Given the description of an element on the screen output the (x, y) to click on. 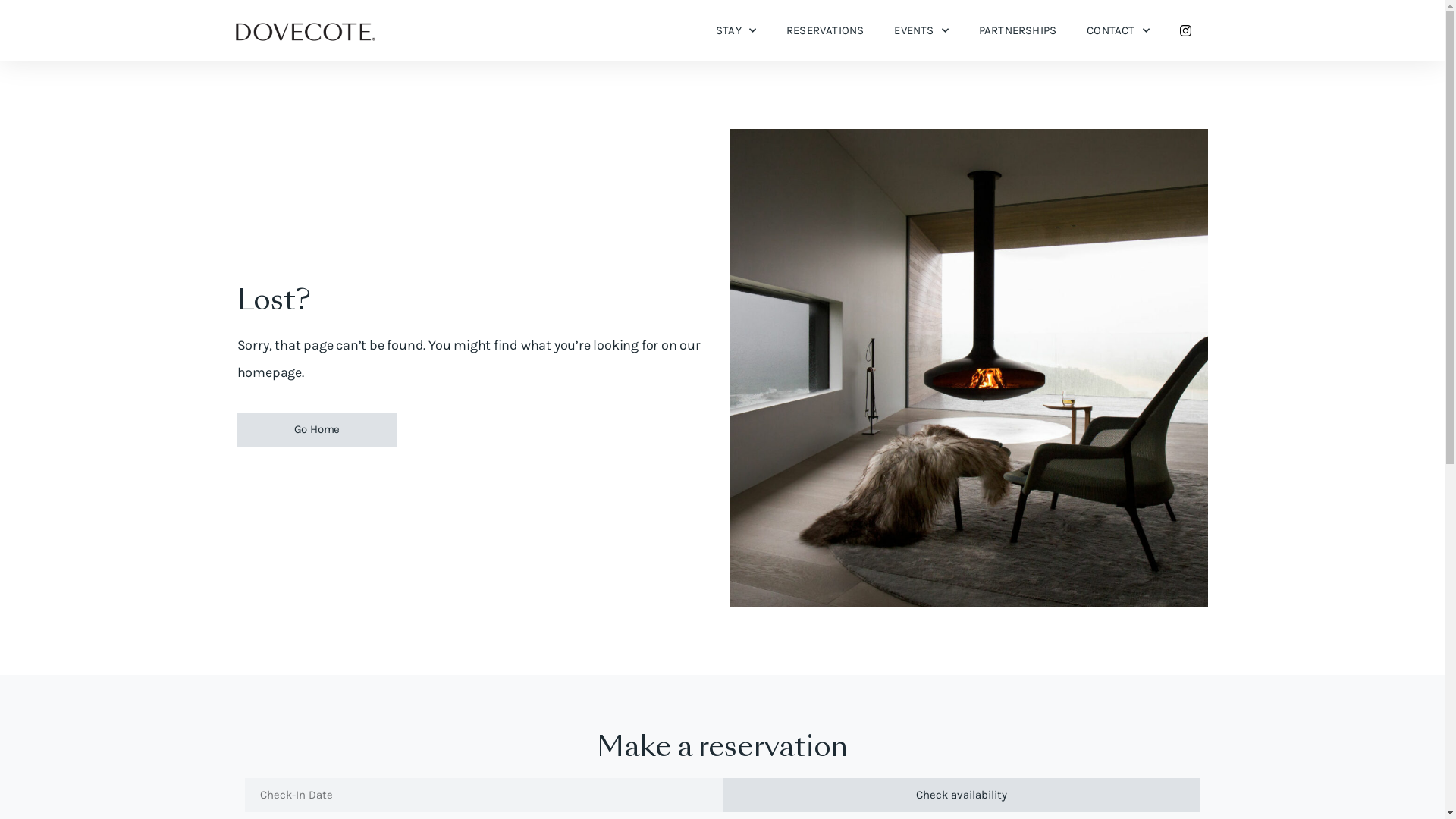
RESERVATIONS Element type: text (824, 30)
CONTACT Element type: text (1117, 30)
EVENTS Element type: text (920, 30)
PARTNERSHIPS Element type: text (1017, 30)
  Element type: text (1189, 30)
Go Home Element type: text (316, 429)
STAY Element type: text (735, 30)
Check availability Element type: text (960, 795)
